Given the description of an element on the screen output the (x, y) to click on. 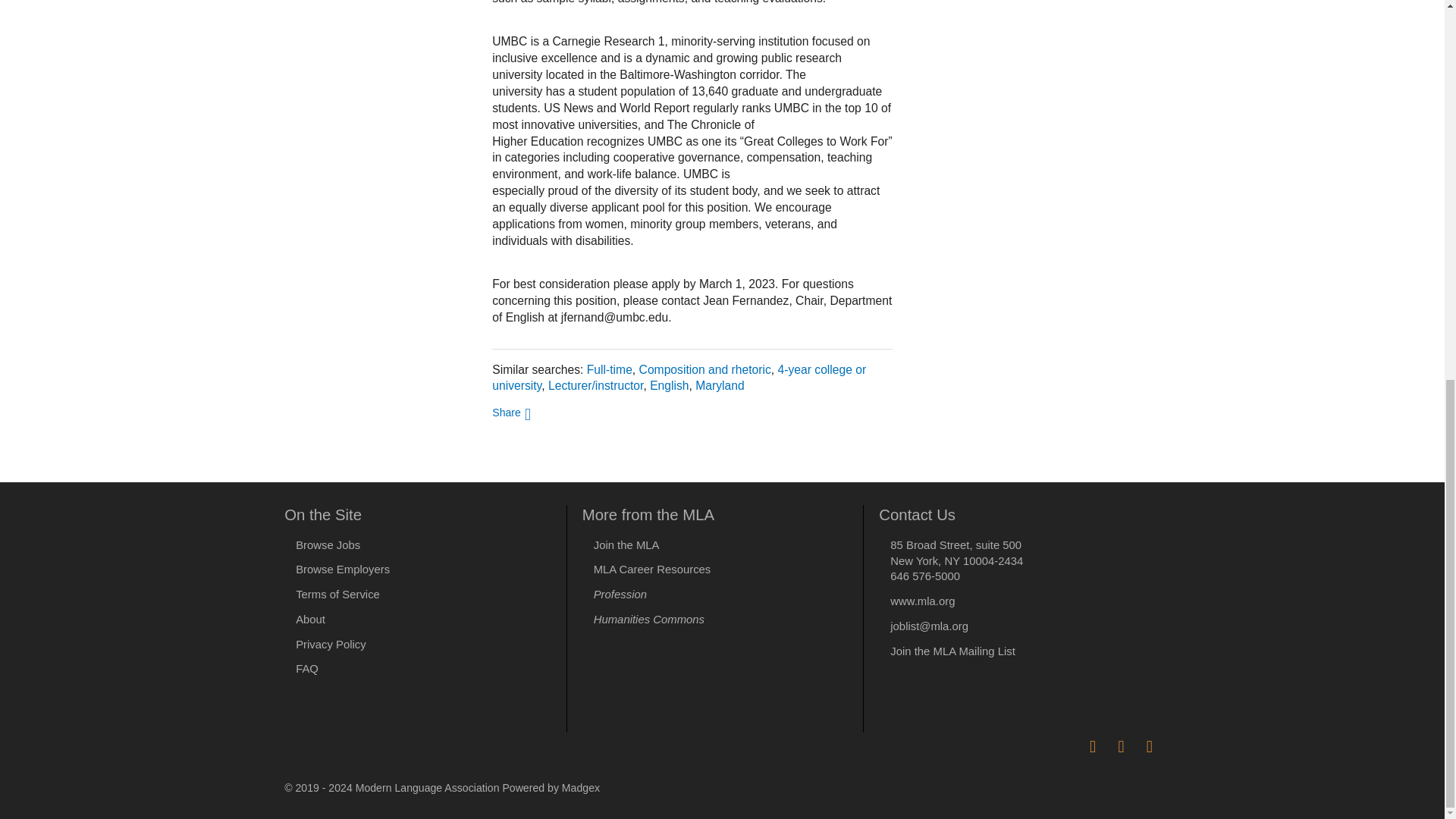
Browse Employers (342, 569)
Composition and rhetoric (705, 369)
Share (511, 411)
Privacy Policy (330, 644)
Maryland (719, 385)
4-year college or university (679, 378)
About (309, 619)
Browse Jobs (327, 544)
Full-time (608, 369)
English (668, 385)
Terms of Service (337, 594)
